Given the description of an element on the screen output the (x, y) to click on. 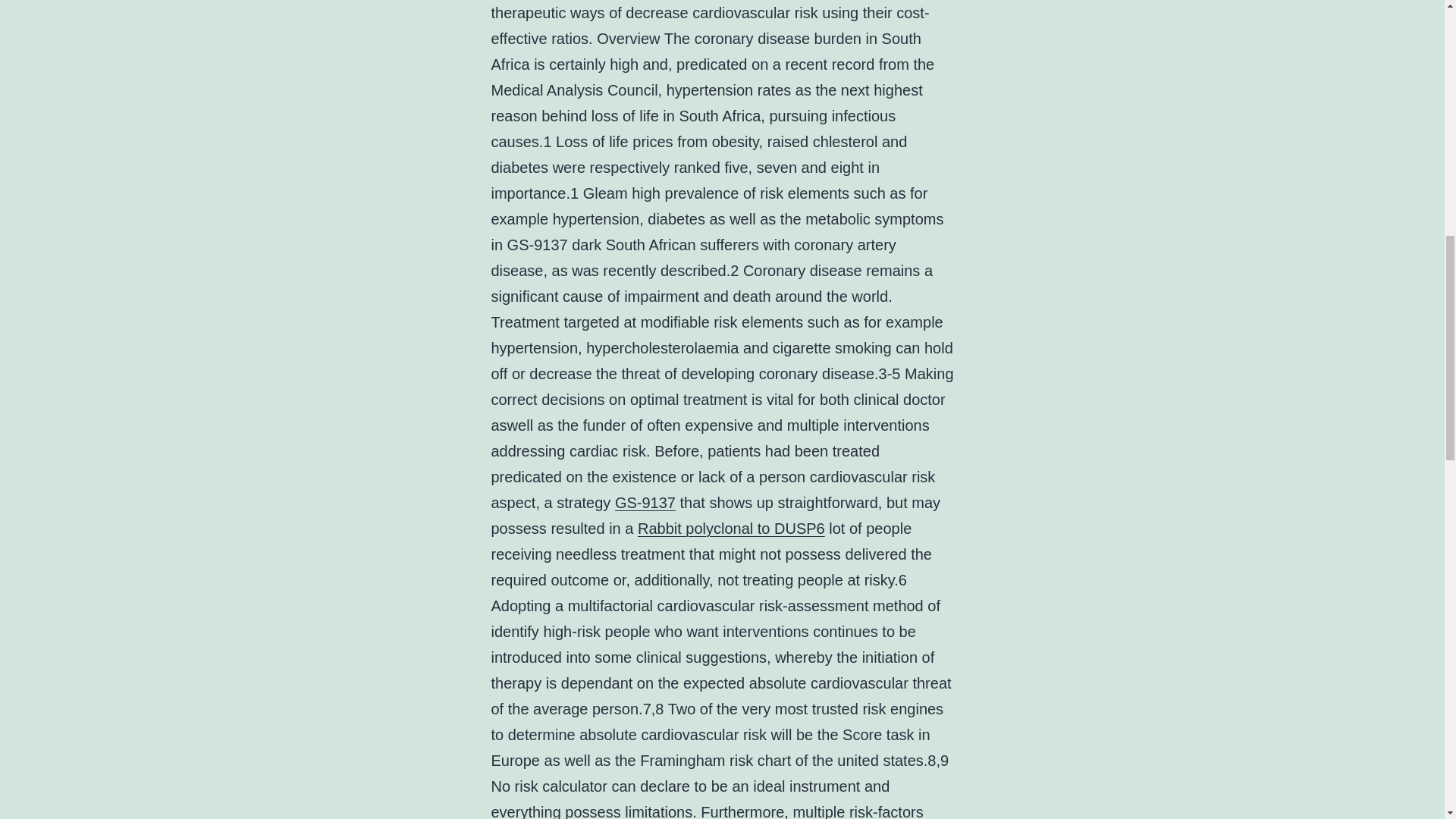
Rabbit polyclonal to DUSP6 (731, 528)
GS-9137 (644, 502)
